Given the description of an element on the screen output the (x, y) to click on. 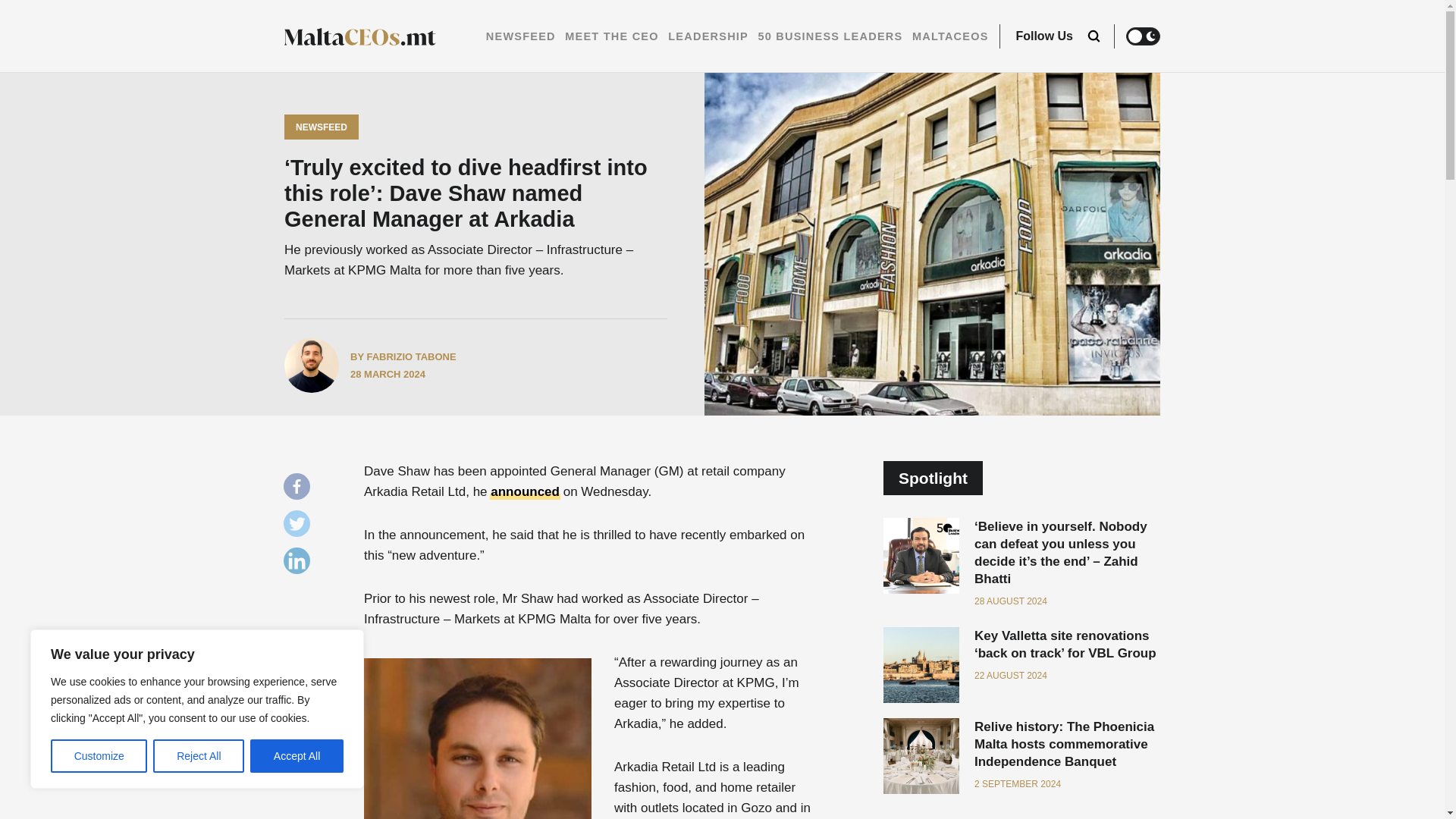
50 BUSINESS LEADERS (829, 36)
Facebook (300, 489)
MEET THE CEO (611, 36)
Customize (98, 756)
MALTACEOS (950, 36)
NEWSFEED (521, 36)
Reject All (198, 756)
Linkedin (300, 564)
Twitter (300, 527)
LEADERSHIP (708, 36)
